Given the description of an element on the screen output the (x, y) to click on. 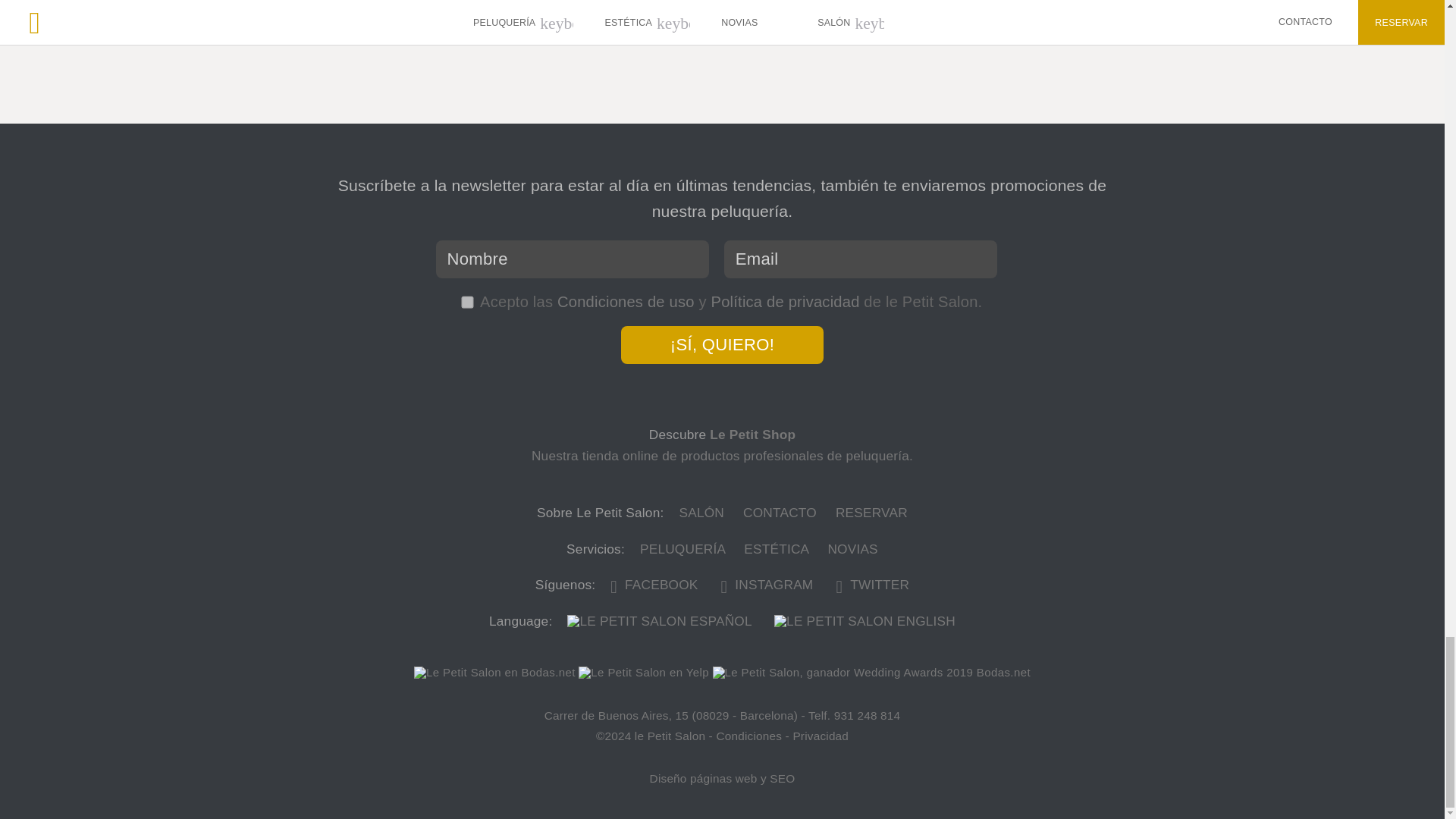
on (465, 300)
